Given the description of an element on the screen output the (x, y) to click on. 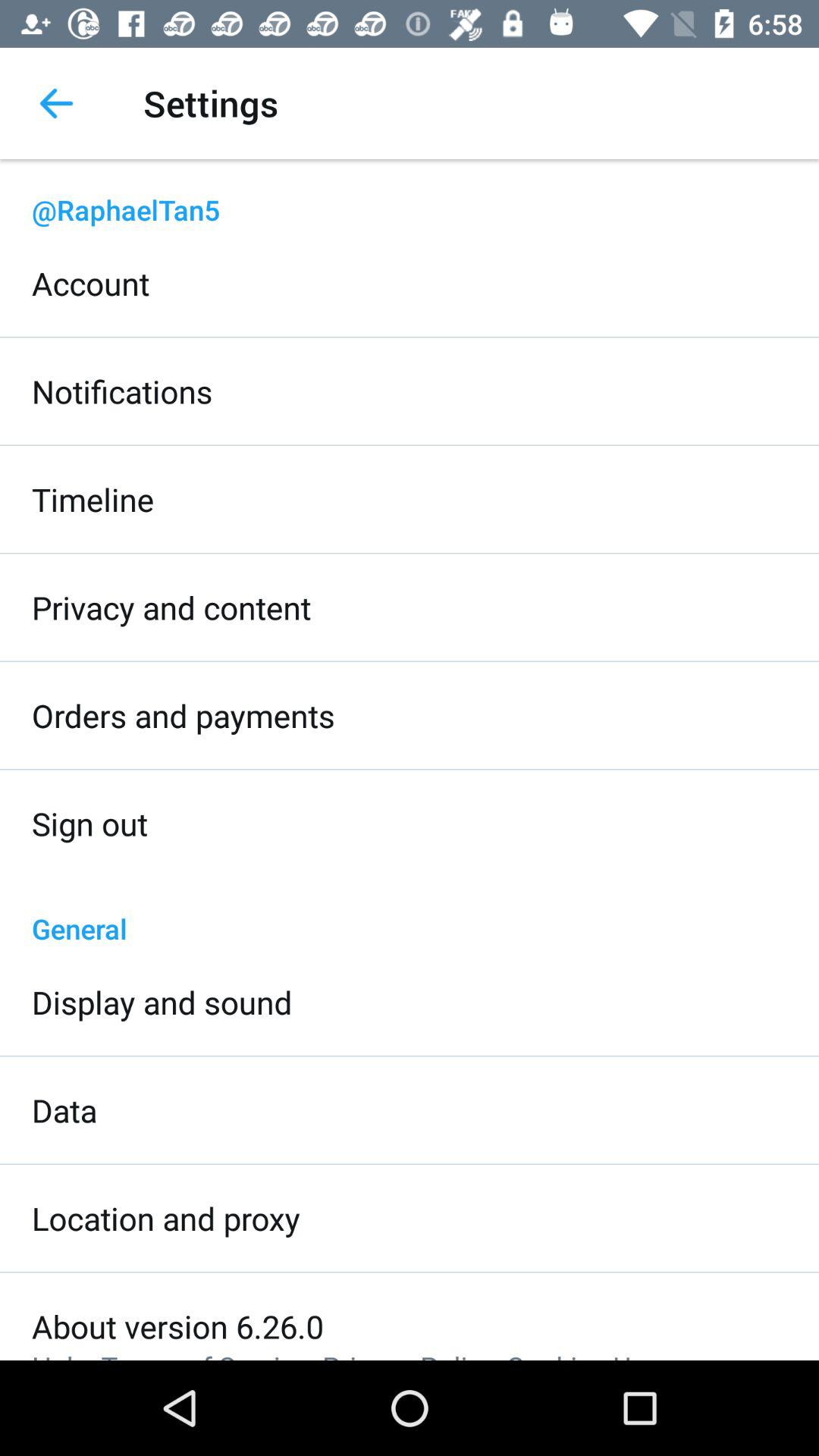
flip until help terms of icon (345, 1353)
